Given the description of an element on the screen output the (x, y) to click on. 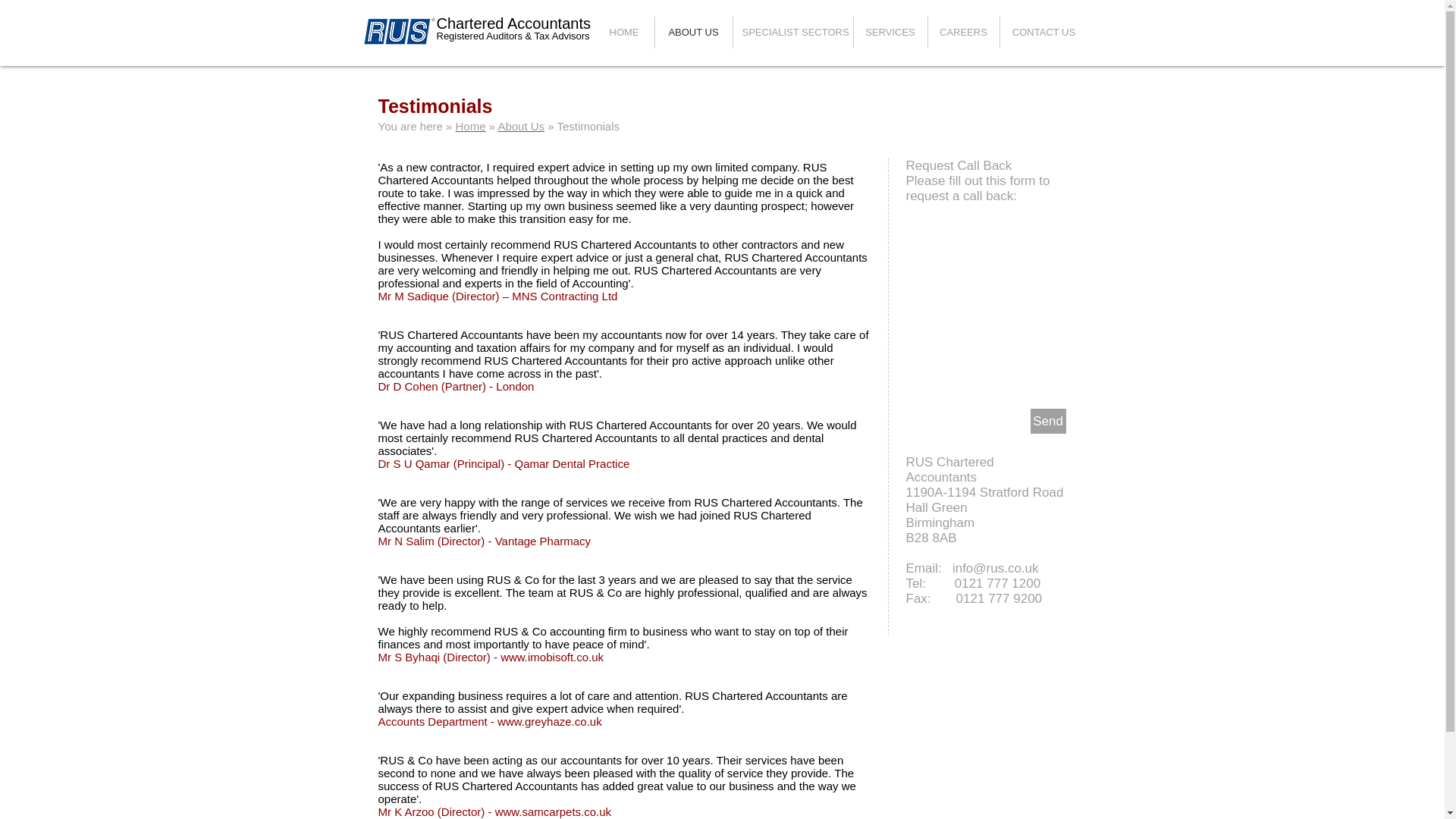
Send (1047, 421)
ABOUT US (693, 32)
HOME (623, 32)
SERVICES (890, 32)
CONTACT US (1042, 32)
About Us (520, 125)
Click here to return to the home page (398, 30)
www.greyhaze.co.uk (549, 721)
www.samcarpets.co.uk (553, 811)
SPECIALIST SECTORS (791, 32)
CAREERS (963, 32)
www.imobisoft.co.uk (552, 656)
Home (470, 125)
